Given the description of an element on the screen output the (x, y) to click on. 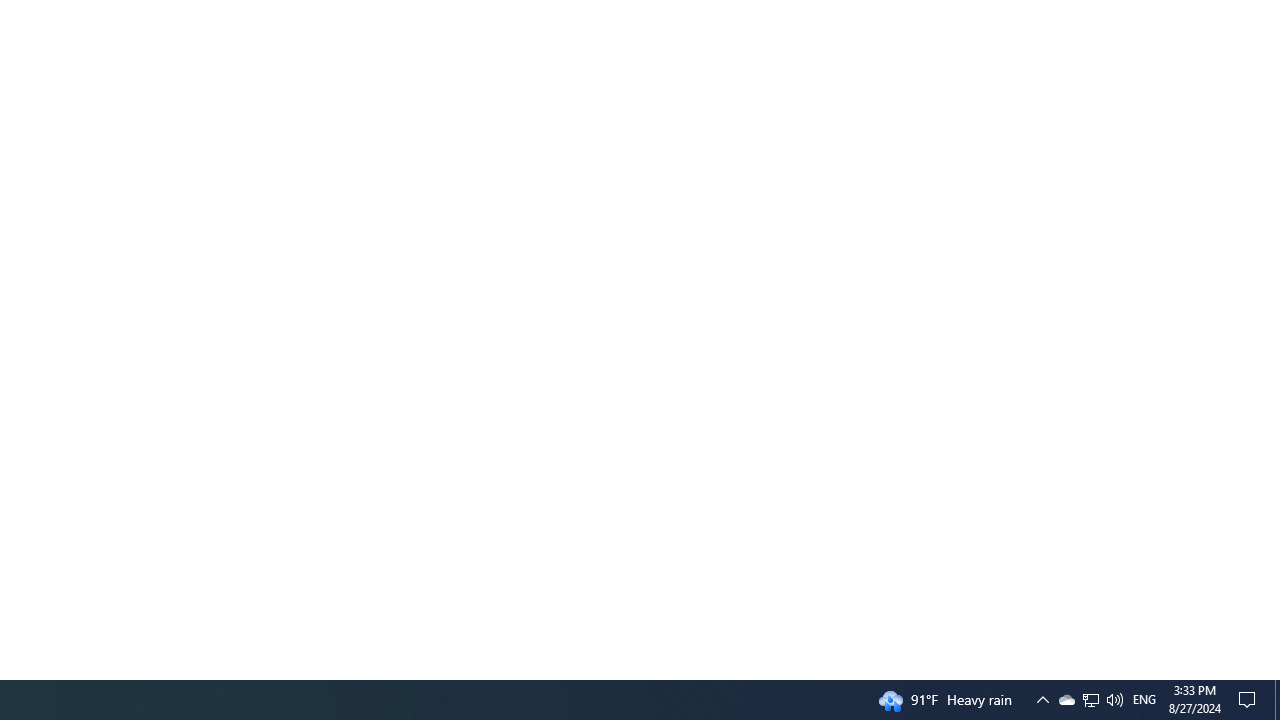
Notification Chevron (1042, 699)
Tray Input Indicator - English (United States) (1144, 699)
Q2790: 100% (1114, 699)
User Promoted Notification Area (1090, 699)
Action Center, No new notifications (1250, 699)
Show desktop (1066, 699)
